Given the description of an element on the screen output the (x, y) to click on. 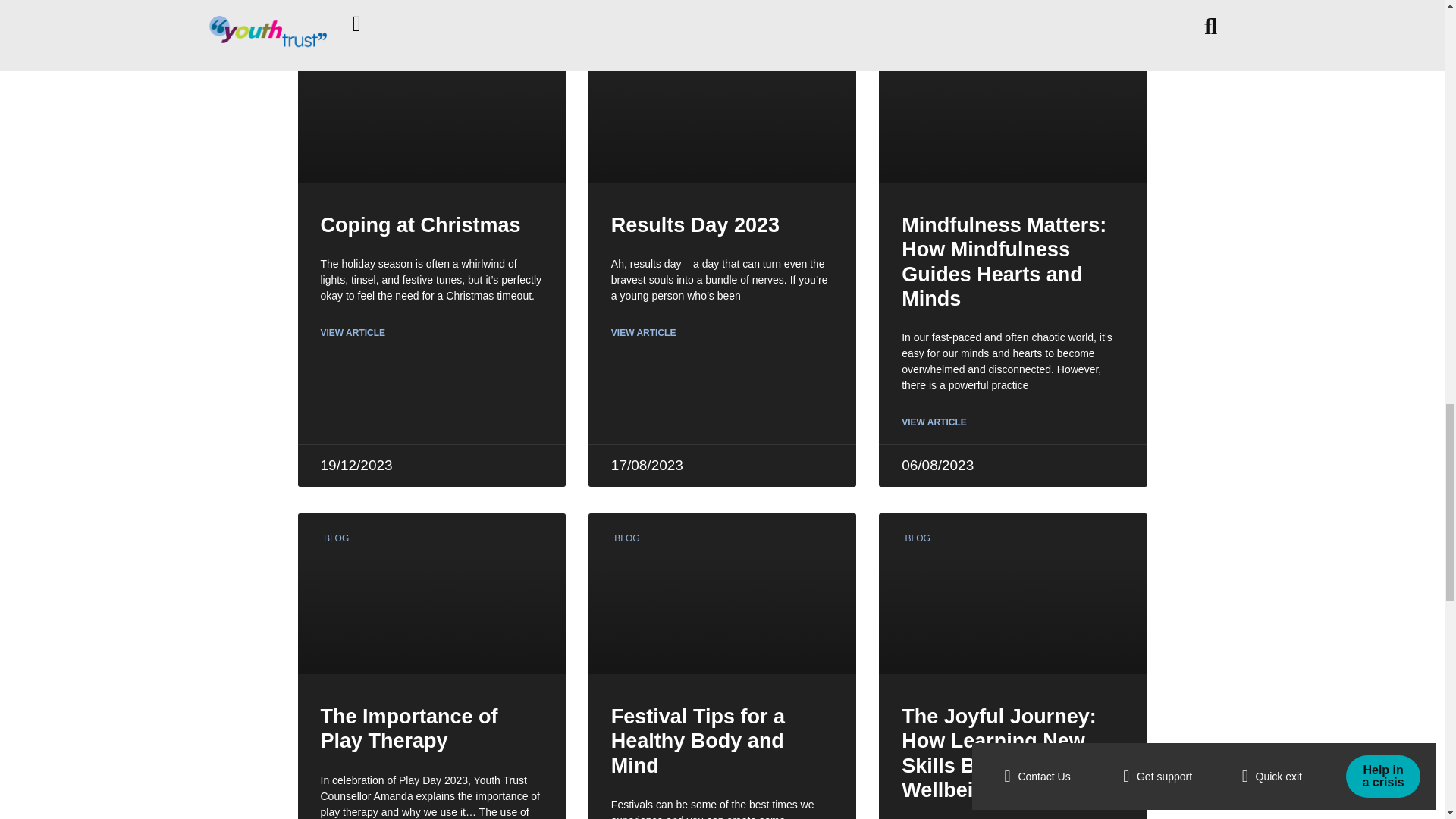
Read more (1013, 102)
Read more (644, 332)
Read more (1013, 593)
Read more (430, 593)
Festival Tips for a Healthy Body and Mind (697, 741)
VIEW ARTICLE (933, 422)
Read more (722, 593)
Results Day 2023 (694, 224)
Read more (352, 332)
Mindfulness Matters: How Mindfulness Guides Hearts and Minds (1003, 261)
Read more (430, 102)
VIEW ARTICLE (644, 332)
Read more (933, 422)
Coping at Christmas (419, 224)
